Given the description of an element on the screen output the (x, y) to click on. 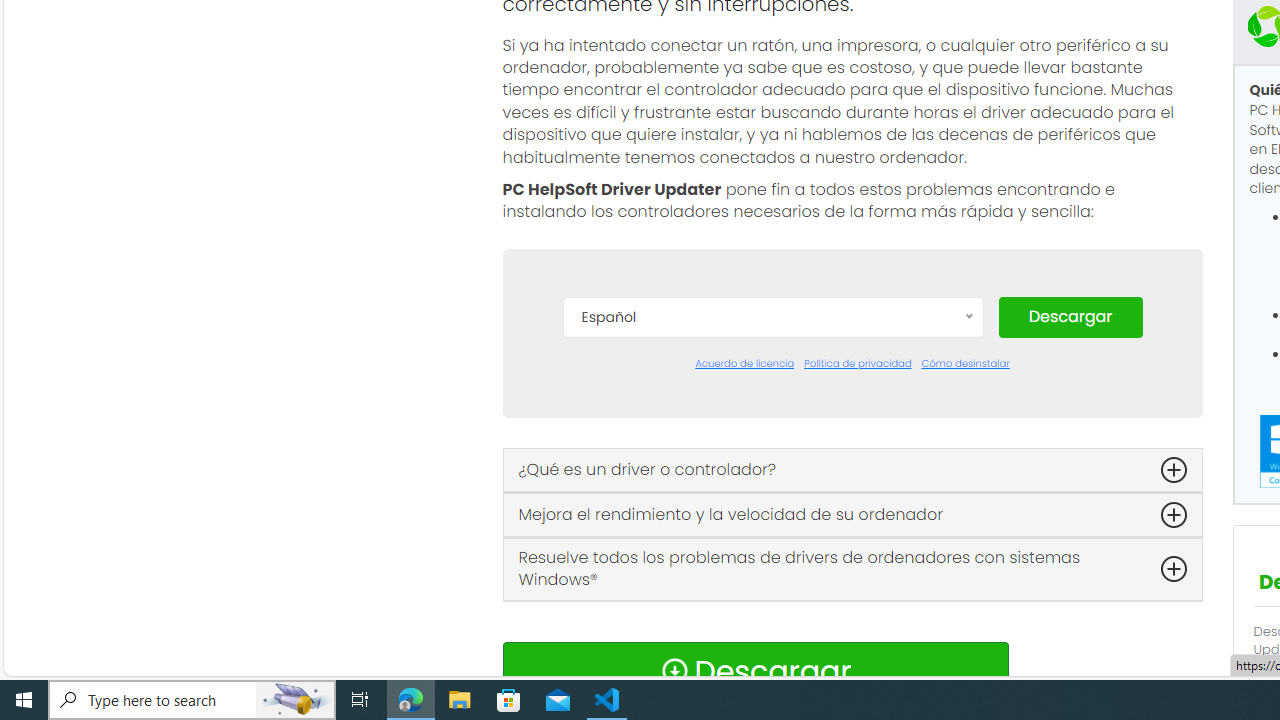
Dansk (772, 411)
Download Icon (674, 670)
Nederlands (772, 621)
Descargar (1070, 316)
Download Icon Descargar (754, 670)
Italiano (772, 591)
Acuerdo de licencia (744, 363)
Norsk (772, 652)
Deutsch (772, 472)
